Given the description of an element on the screen output the (x, y) to click on. 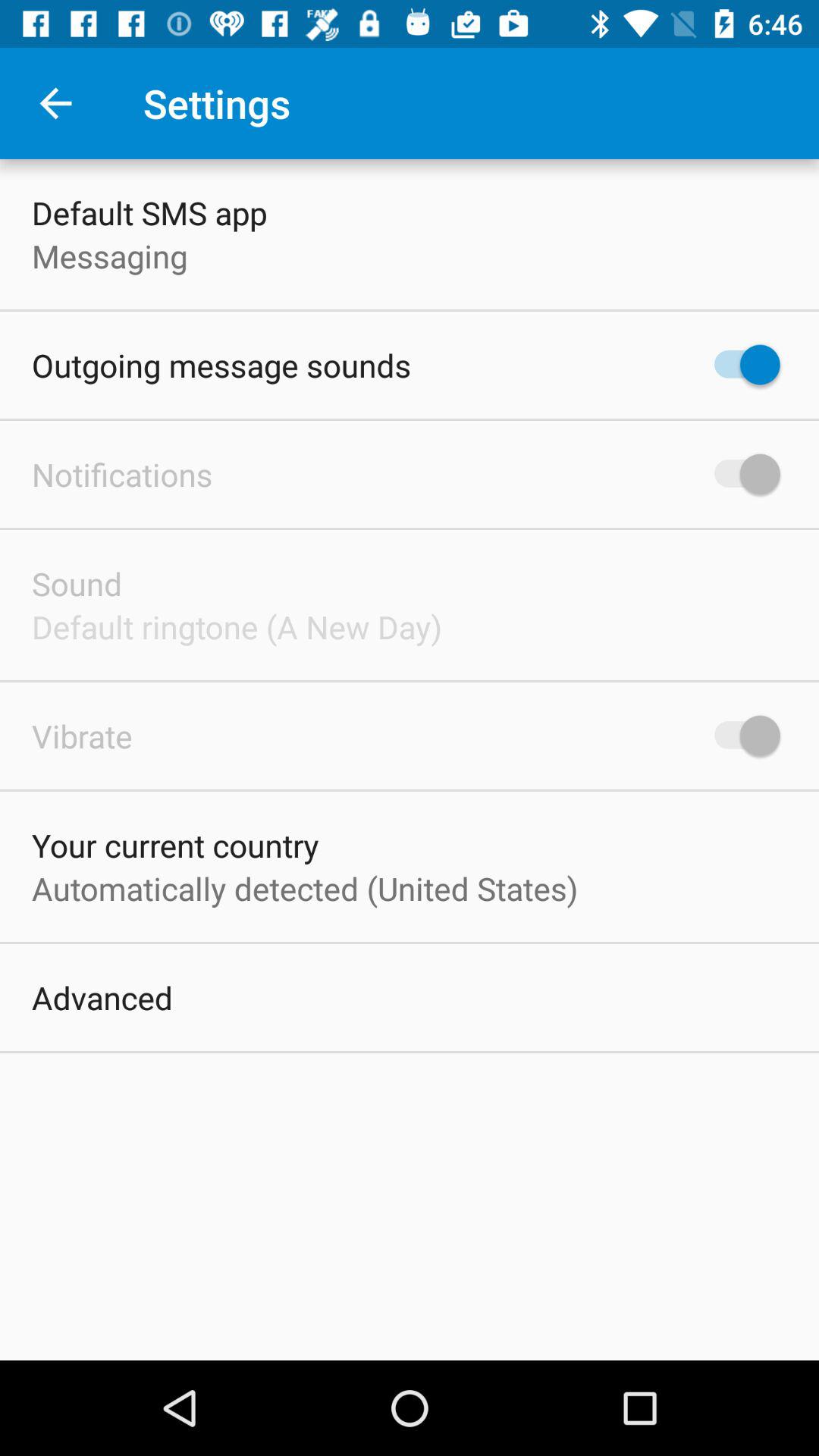
select the item above the outgoing message sounds (109, 255)
